Given the description of an element on the screen output the (x, y) to click on. 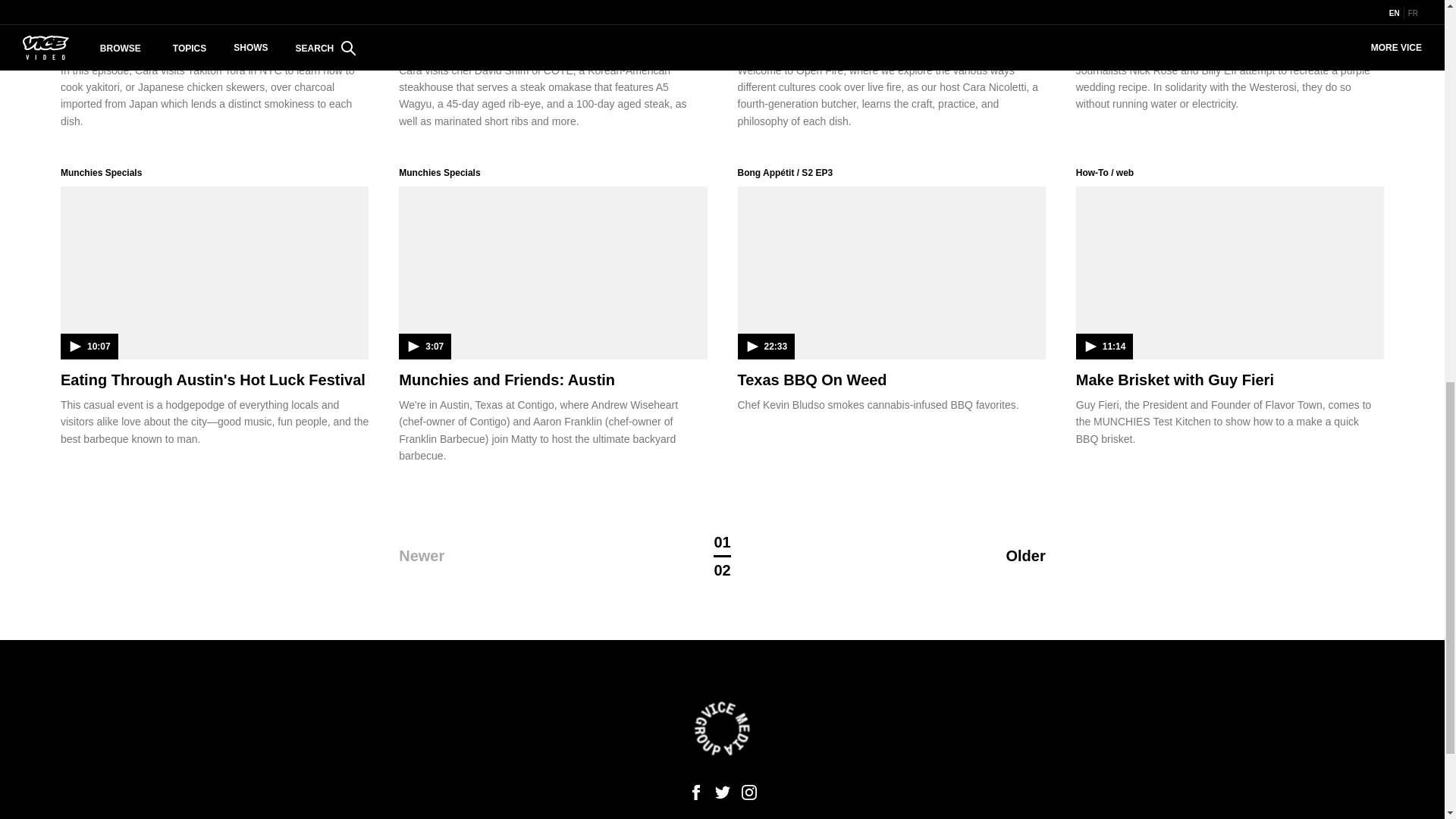
Older (947, 556)
Newer (497, 556)
